Given the description of an element on the screen output the (x, y) to click on. 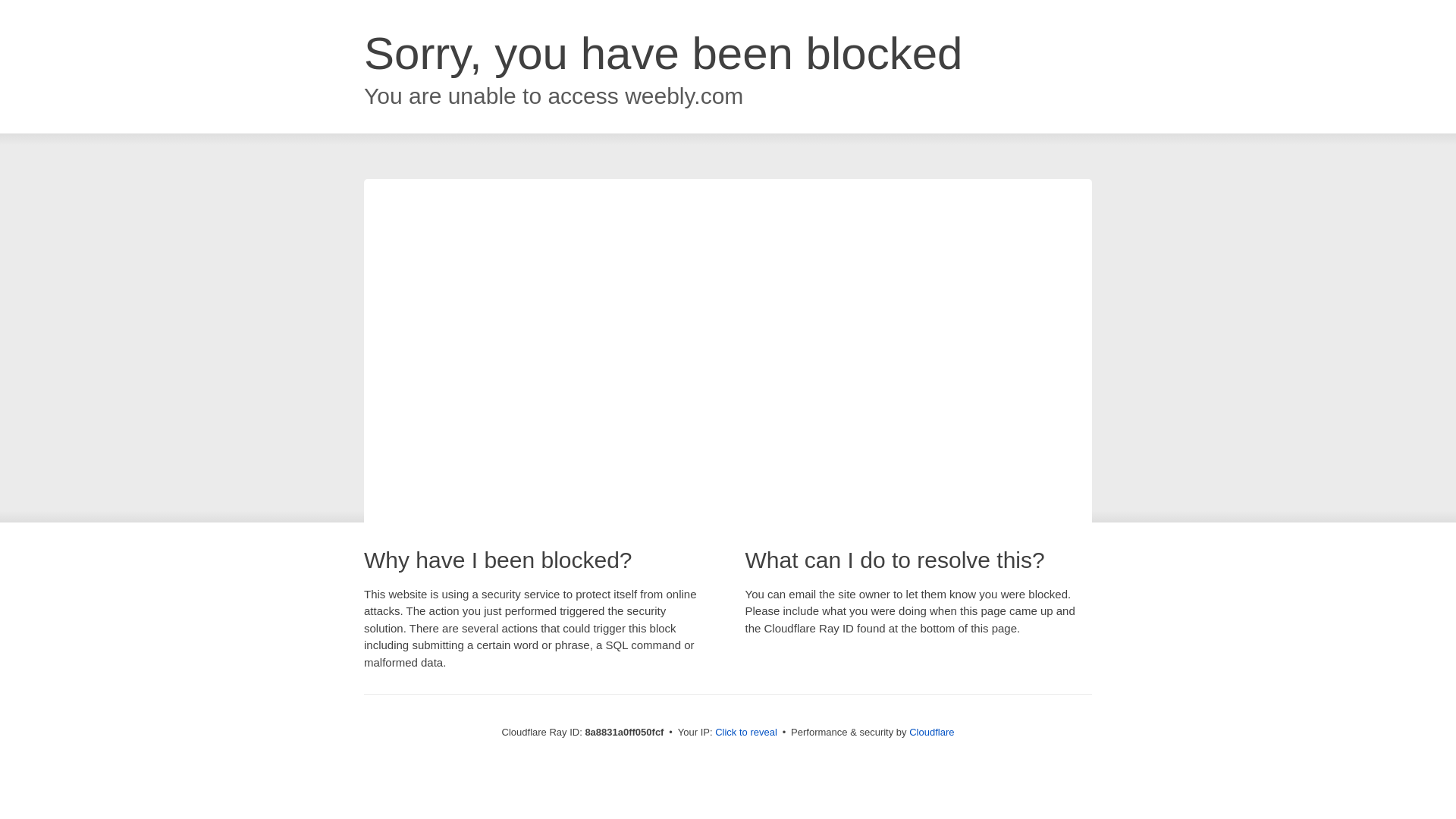
Click to reveal (745, 732)
Cloudflare (930, 731)
